Given the description of an element on the screen output the (x, y) to click on. 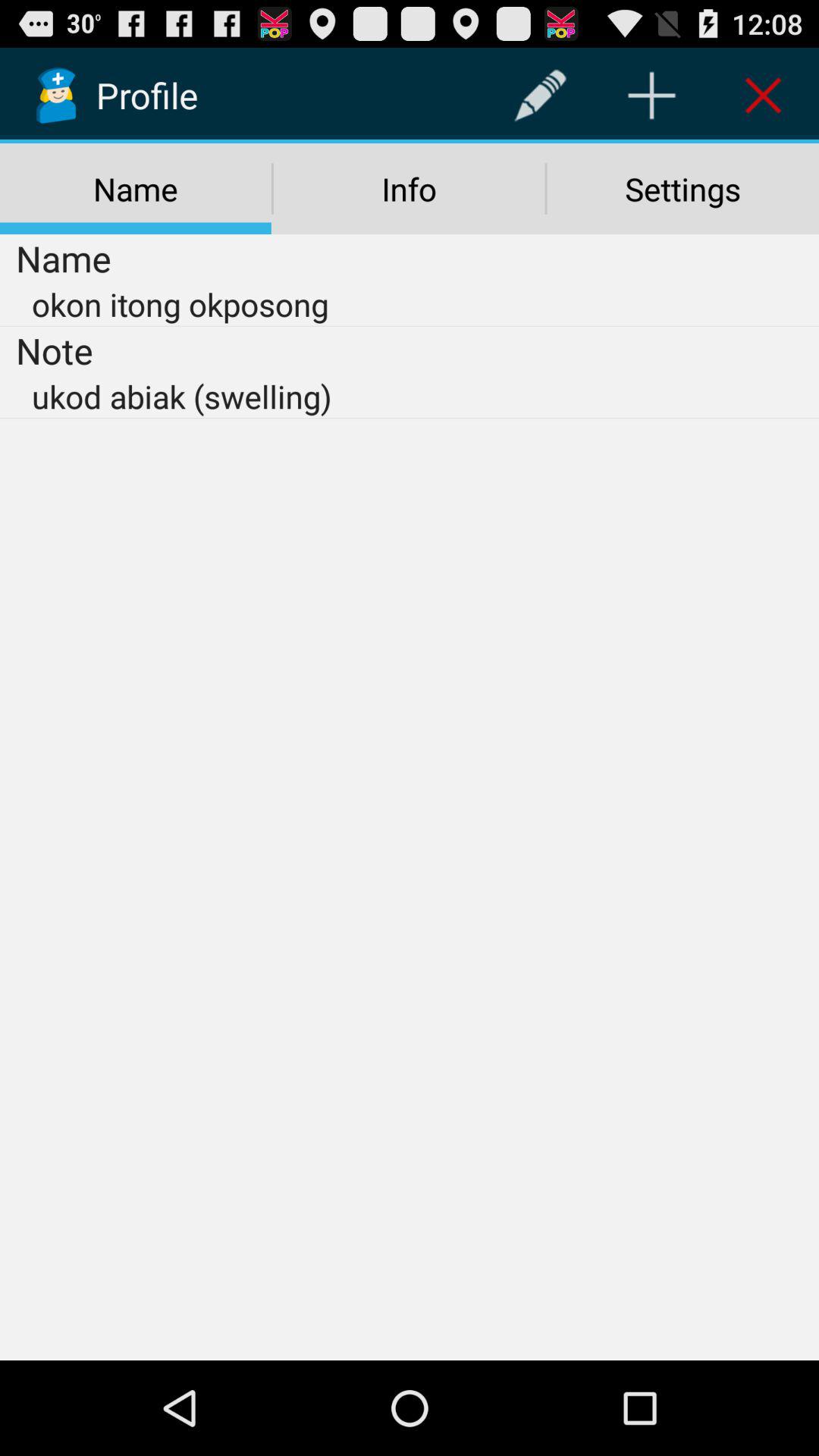
flip to info icon (408, 188)
